Given the description of an element on the screen output the (x, y) to click on. 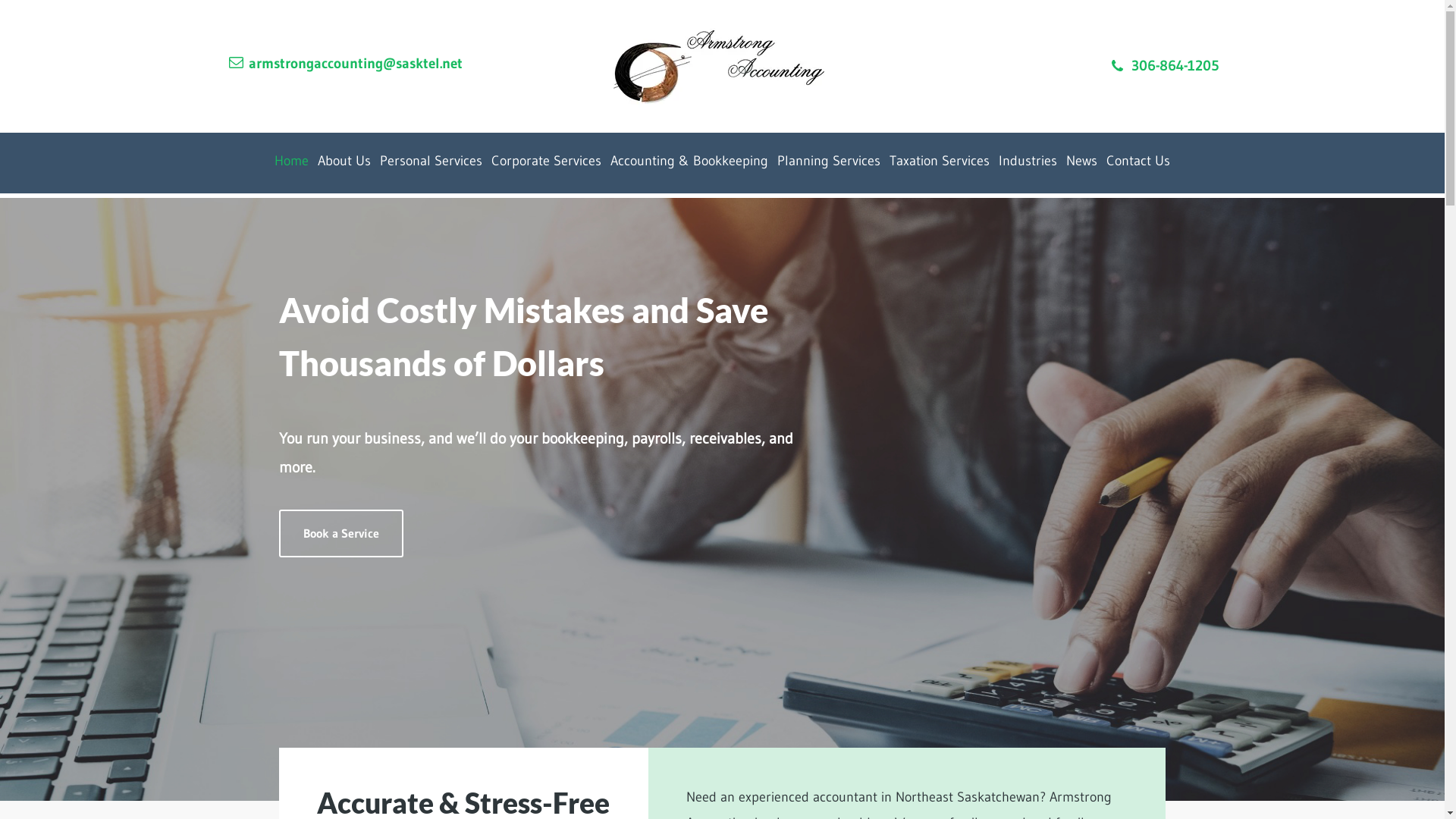
Taxation Services Element type: text (939, 161)
armstrongaccounting@sasktel.net Element type: text (355, 65)
About Us Element type: text (344, 161)
Personal Services Element type: text (430, 161)
Home Element type: text (291, 161)
Planning Services Element type: text (828, 161)
Accounting & Bookkeeping Element type: text (688, 161)
306-864-1205 Element type: text (1175, 65)
Book a Service Element type: text (341, 533)
Industries Element type: text (1027, 161)
News Element type: text (1081, 161)
Contact Us Element type: text (1137, 161)
Corporate Services Element type: text (545, 161)
